Given the description of an element on the screen output the (x, y) to click on. 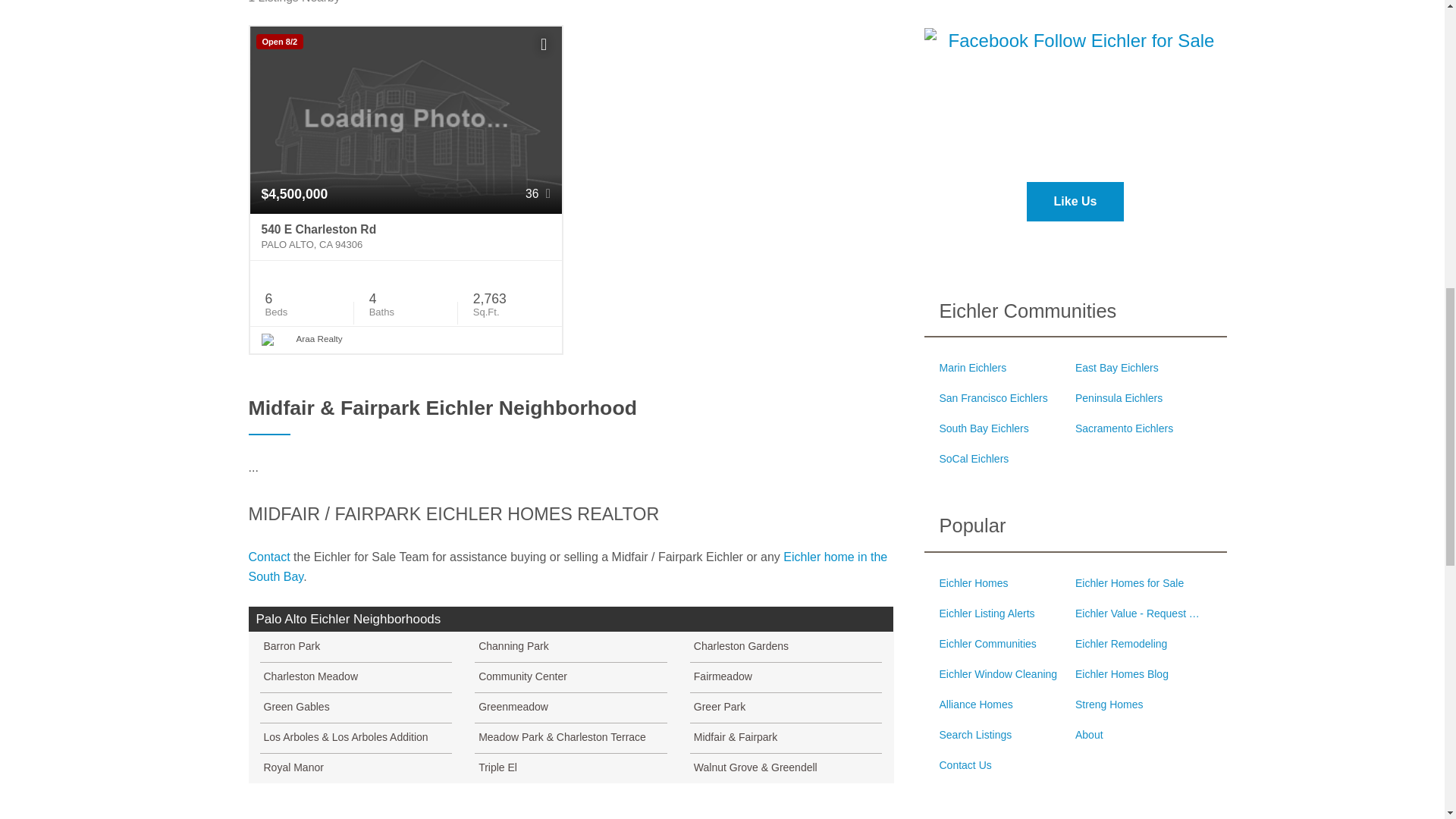
540 E Charleston Rd PALO ALTO,  CA 94306 (406, 237)
